Given the description of an element on the screen output the (x, y) to click on. 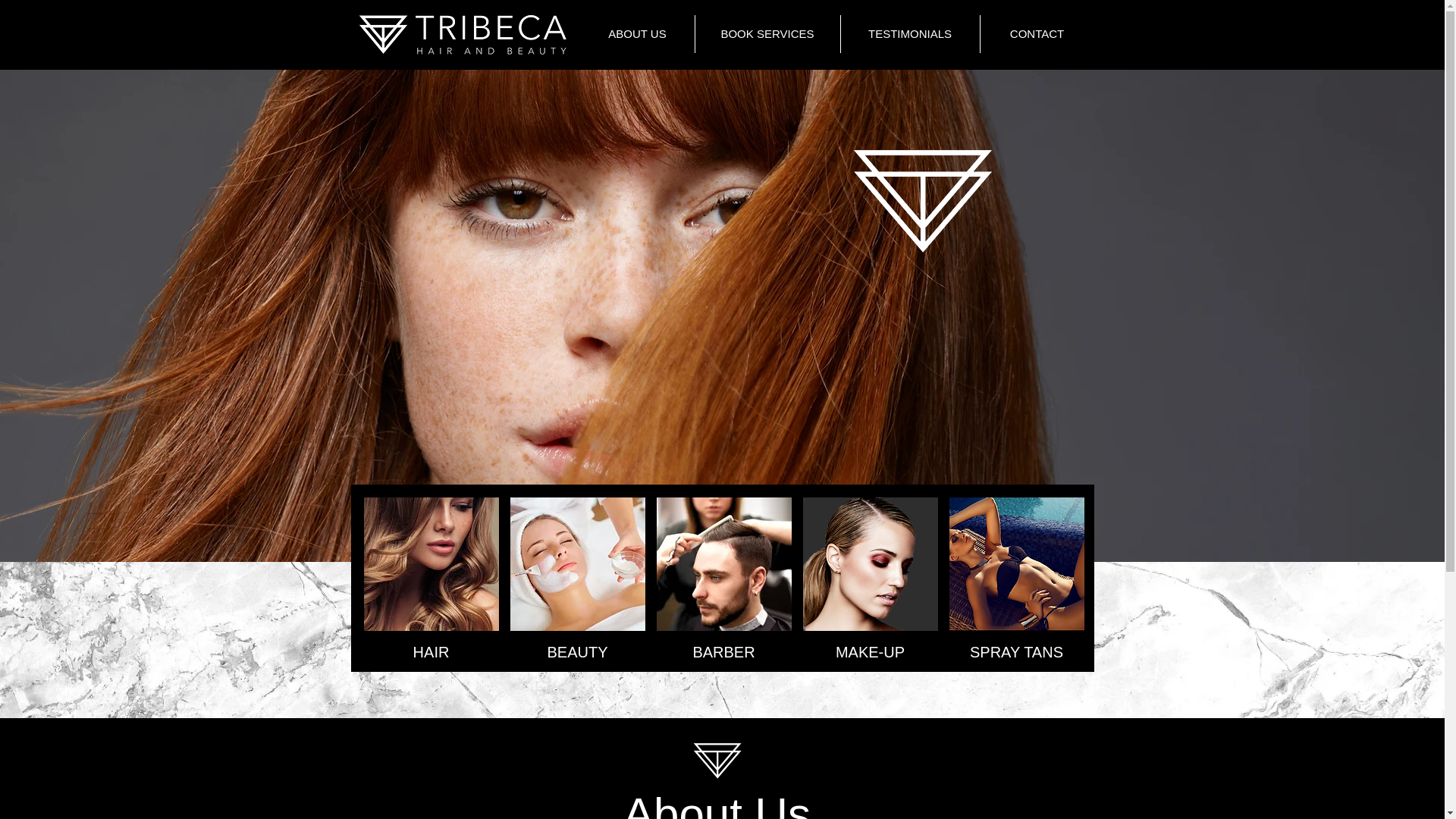
SPRAY TANS (1016, 583)
BARBER (724, 583)
MAKE-UP (869, 583)
CONTACT (1036, 34)
TESTIMONIALS (909, 34)
HAIR (431, 583)
BEAUTY (577, 583)
ABOUT US (637, 34)
